Given the description of an element on the screen output the (x, y) to click on. 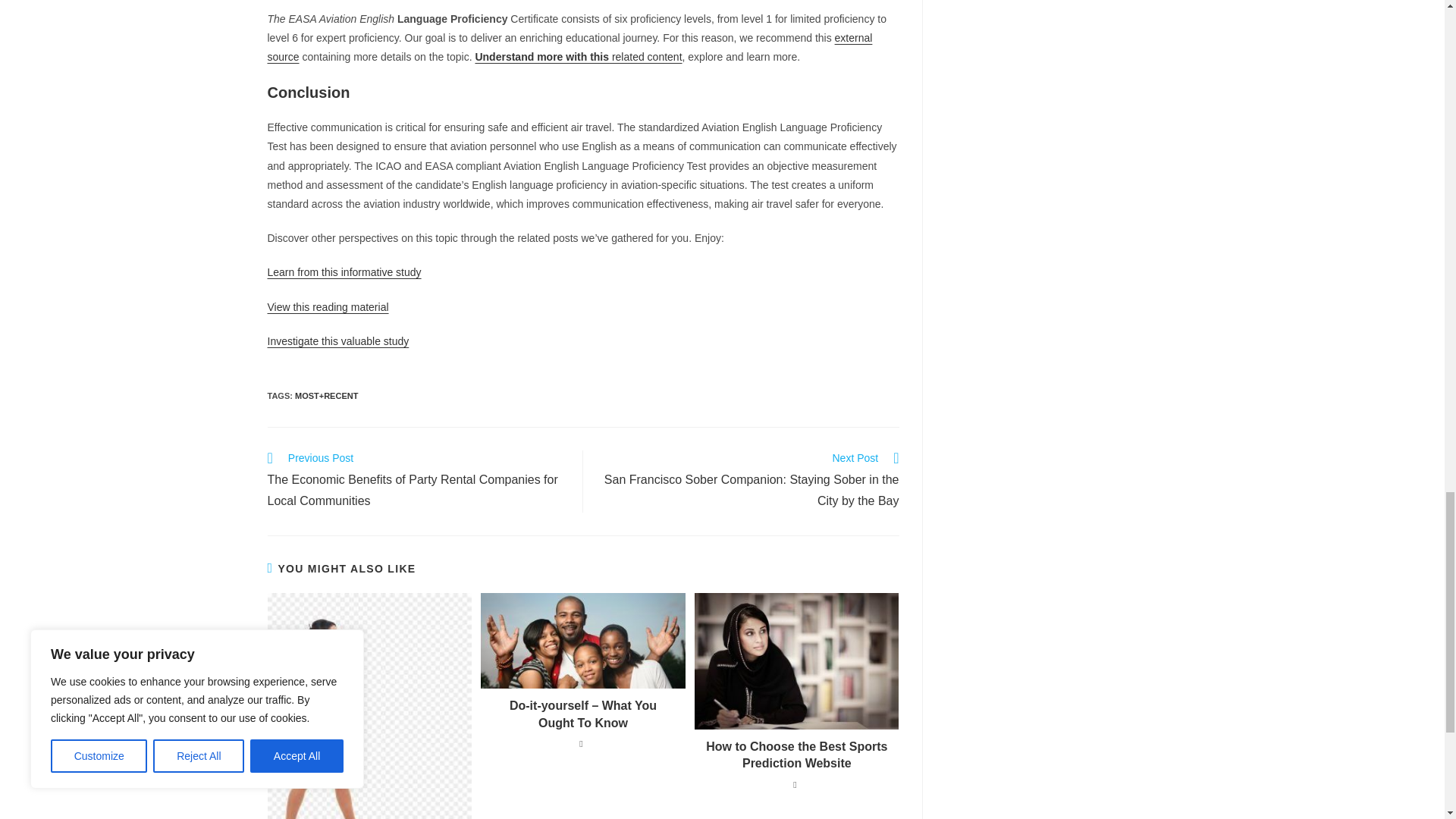
Understand more with this related content (577, 56)
Investigate this valuable study (337, 340)
Learn from this informative study (343, 272)
external source (569, 47)
View this reading material (327, 306)
